Given the description of an element on the screen output the (x, y) to click on. 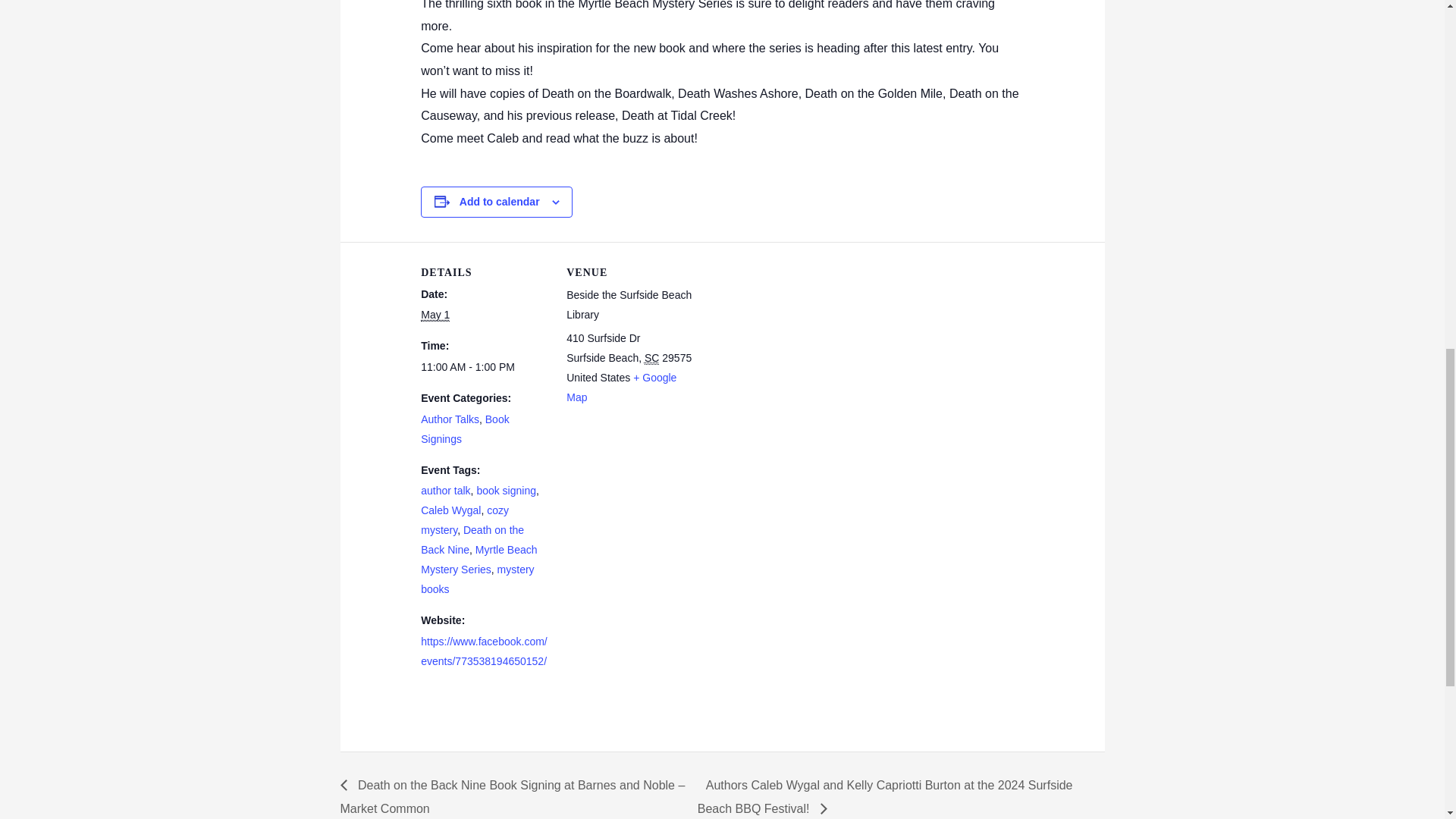
2024-05-01 (434, 314)
mystery books (477, 579)
Click to view a Google Map (621, 387)
Author Talks (449, 419)
author talk (445, 490)
cozy mystery (464, 520)
2024-05-01 (484, 367)
Myrtle Beach Mystery Series (478, 559)
Death on the Back Nine (472, 540)
Book Signings (464, 429)
